Given the description of an element on the screen output the (x, y) to click on. 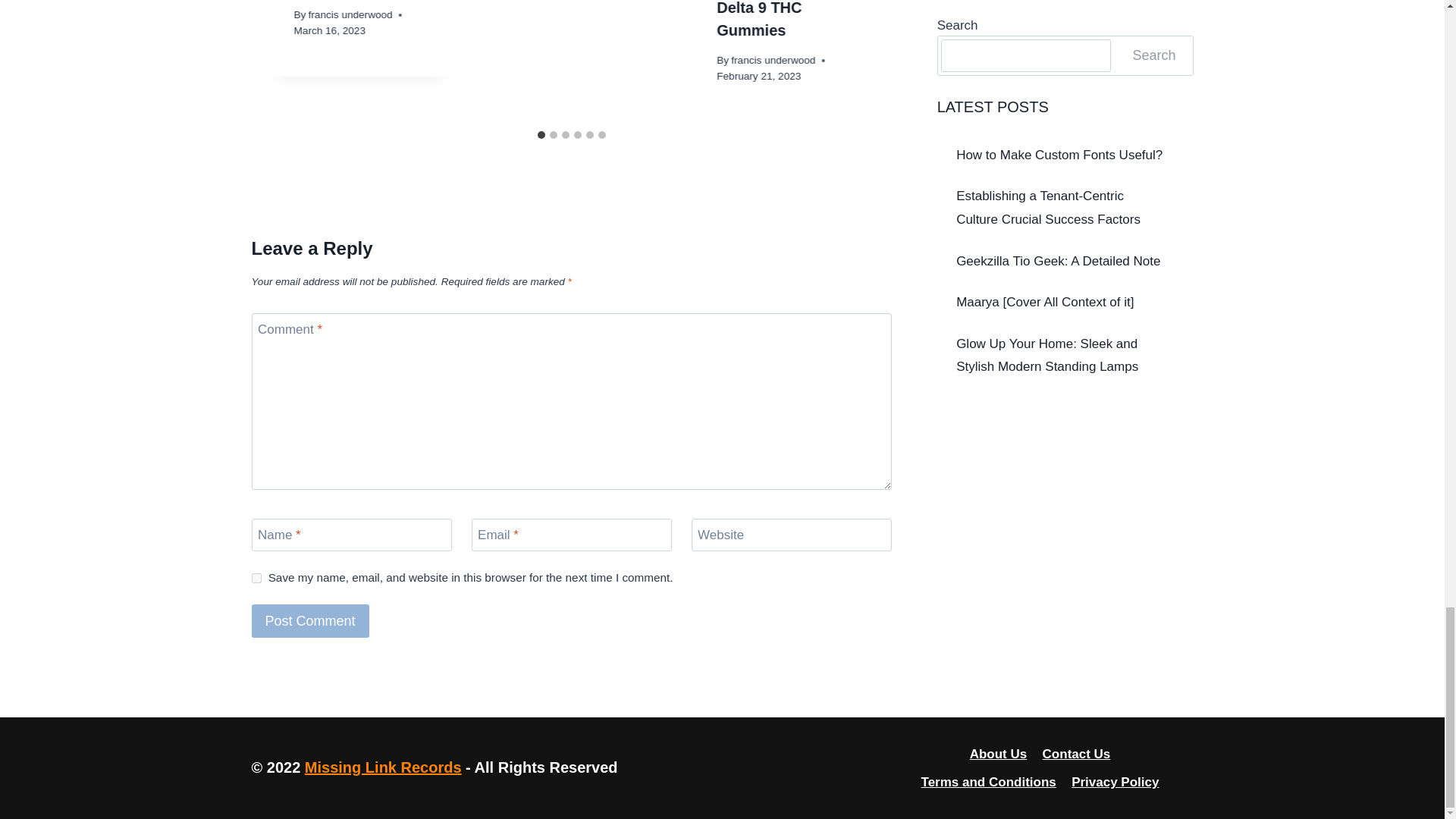
yes (256, 578)
Post Comment (310, 620)
